Given the description of an element on the screen output the (x, y) to click on. 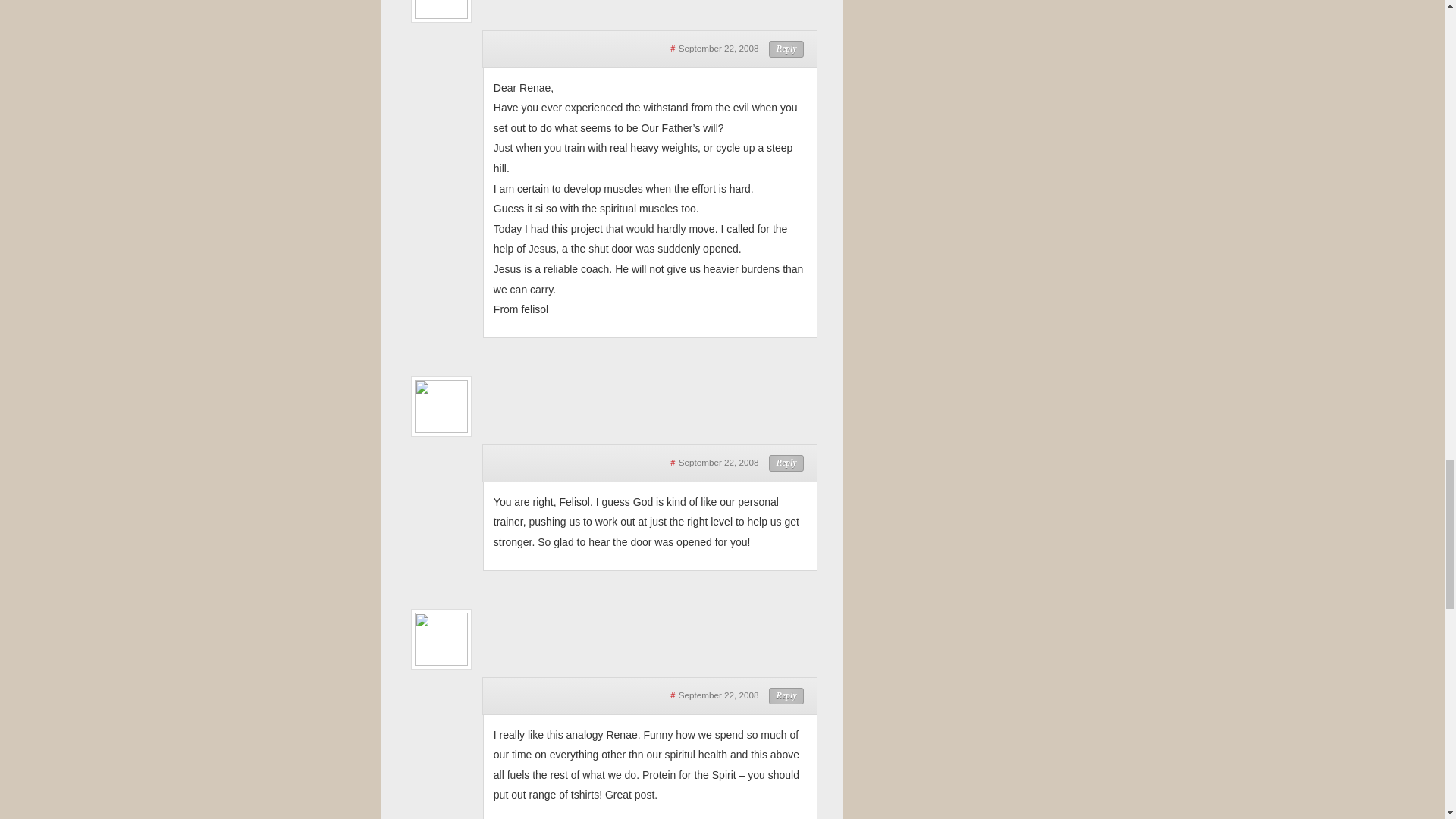
Reply (786, 48)
Reply (786, 695)
Reply (786, 463)
